Given the description of an element on the screen output the (x, y) to click on. 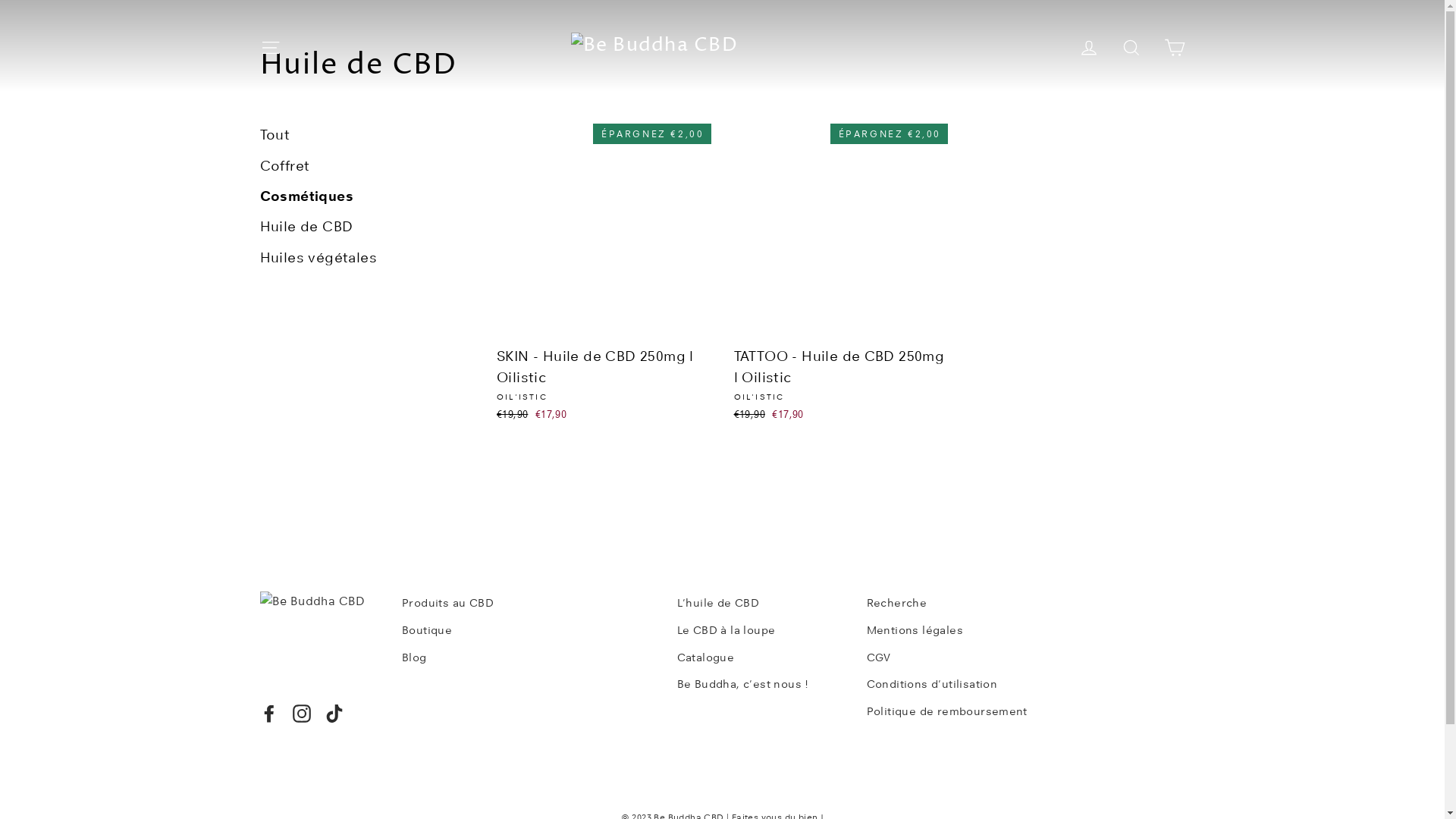
CGV Element type: text (949, 658)
Recherche Element type: text (949, 603)
Rechercher Element type: text (1131, 45)
Se connecter Element type: text (1088, 45)
Passer au contenu Element type: text (0, 0)
TikTok Element type: text (334, 712)
Coffret Element type: text (284, 165)
Be Buddha, c'est nous ! Element type: text (759, 684)
Facebook Element type: text (268, 712)
L'huile de CBD Element type: text (759, 603)
Navigation Element type: text (269, 45)
Tout Element type: text (274, 134)
Boutique Element type: text (527, 630)
Instagram Element type: text (301, 712)
Panier Element type: text (1173, 45)
Huile de CBD Element type: text (305, 226)
Politique de remboursement Element type: text (949, 711)
Blog Element type: text (527, 658)
Produits au CBD Element type: text (527, 603)
Catalogue Element type: text (759, 658)
Conditions d'utilisation Element type: text (949, 684)
